Given the description of an element on the screen output the (x, y) to click on. 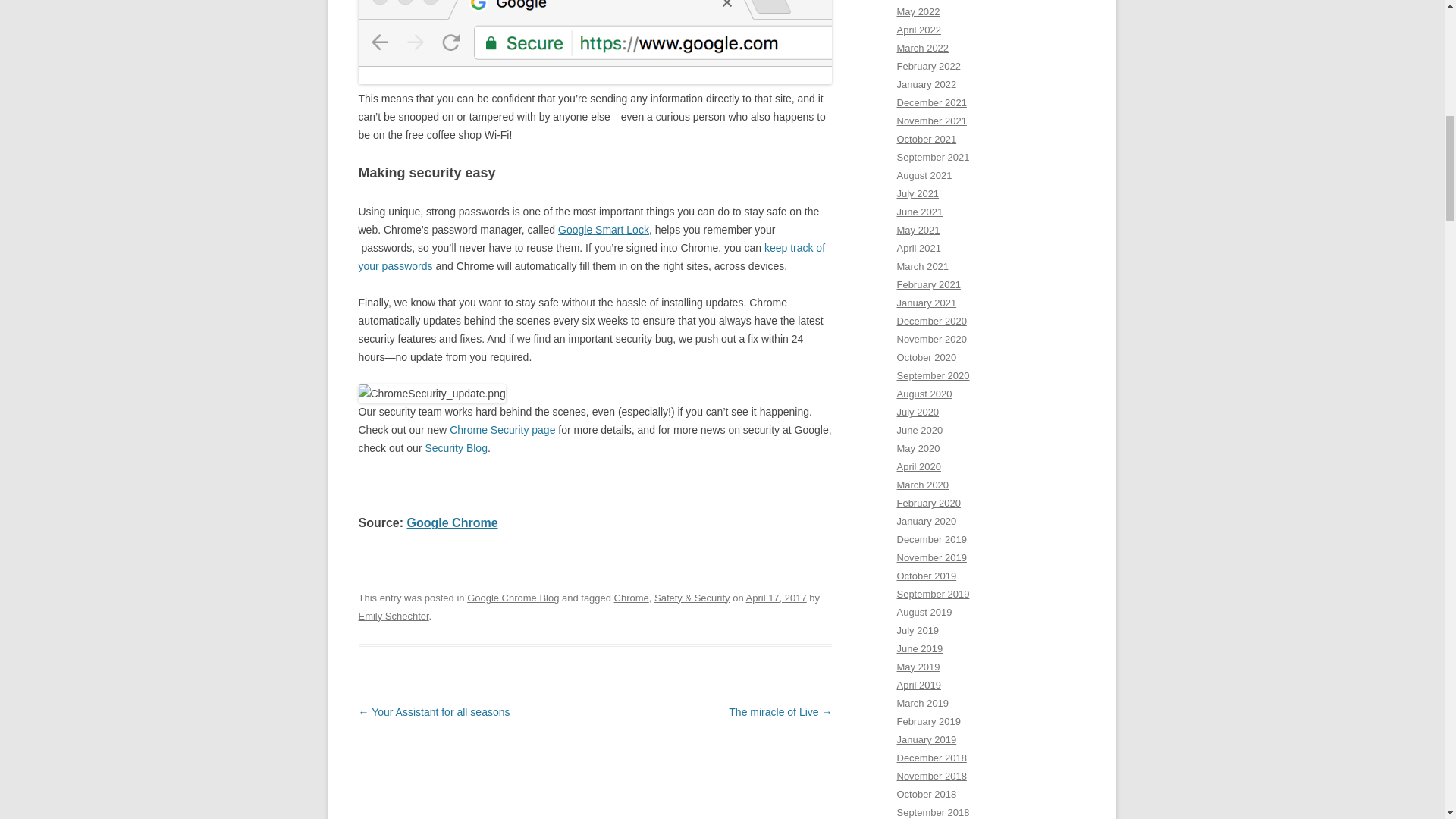
Google Chrome Blog (513, 597)
Chrome (631, 597)
keep track of your passwords (591, 256)
Emily Schechter (393, 615)
Chrome Security page (501, 429)
Google Chrome (452, 522)
April 17, 2017 (775, 597)
View all posts by Emily Schechter (393, 615)
Security Blog (455, 448)
4:00 pm (775, 597)
Google Smart Lock (603, 229)
